Given the description of an element on the screen output the (x, y) to click on. 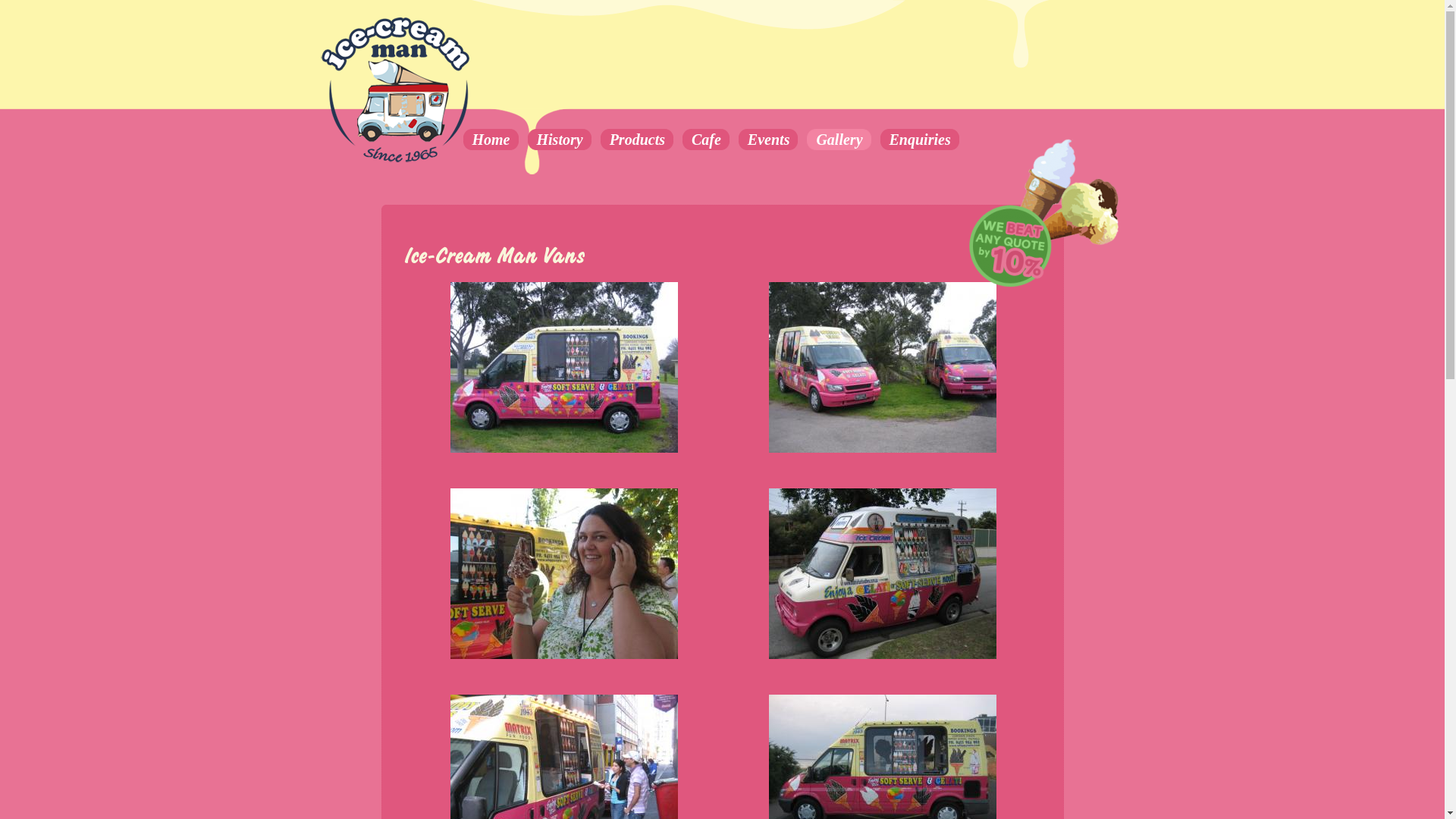
Products Element type: text (636, 139)
Home Element type: hover (395, 159)
Events Element type: text (768, 139)
History Element type: text (559, 139)
Home Element type: text (489, 139)
Gallery Element type: text (838, 139)
Enquiries Element type: text (919, 139)
Cafe Element type: text (705, 139)
